Given the description of an element on the screen output the (x, y) to click on. 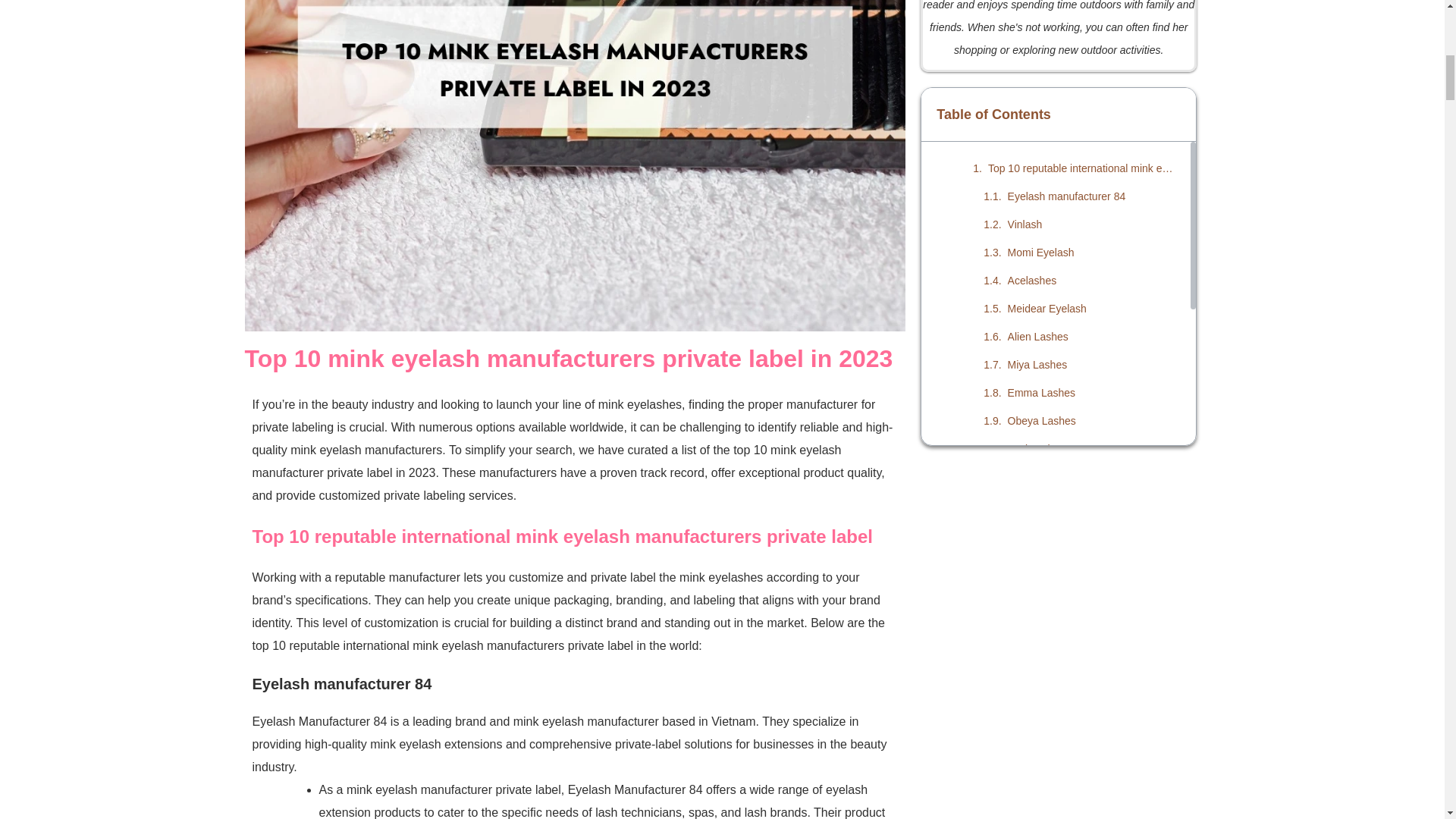
Top 5 best 5D 25mm mink eyelash manufacturers in 2024 (1091, 644)
Miya Lashes (1037, 363)
Top 5 best 3D mink fur eyelashes manufacturers in 2024 (1091, 617)
Related posts (1040, 504)
Momi Eyelash (1040, 251)
Eyelash manufacturer 84 (1066, 196)
